Given the description of an element on the screen output the (x, y) to click on. 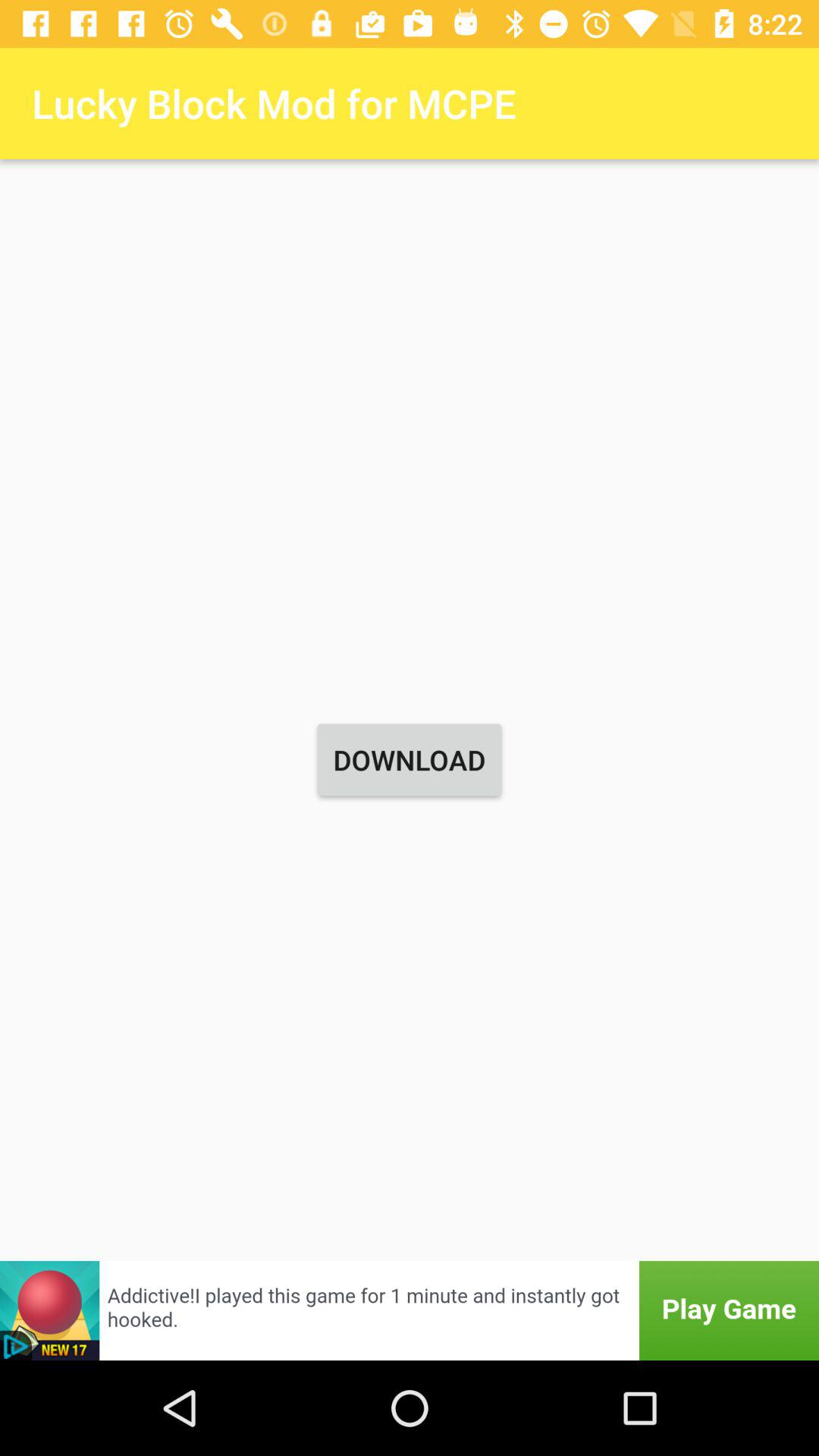
advertisement (409, 1310)
